Given the description of an element on the screen output the (x, y) to click on. 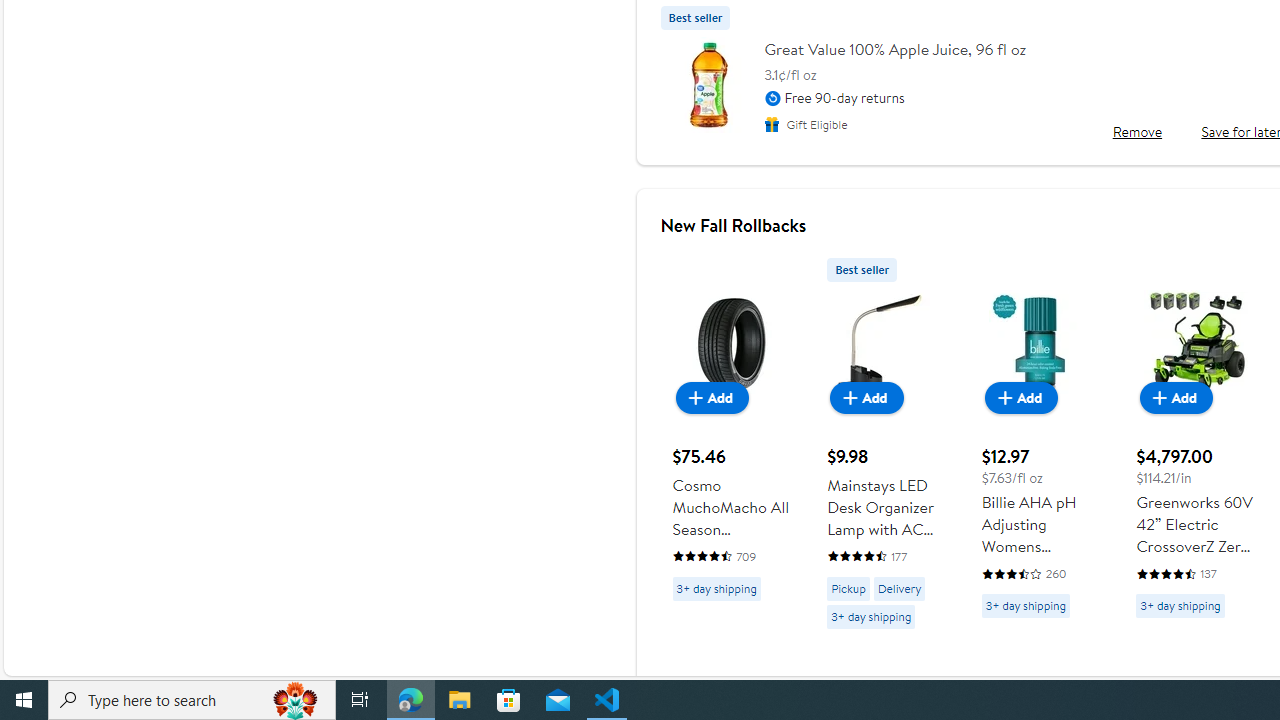
Cosmo MuchoMacho All Season P215/55R17 98W XL Passenger Tire (732, 429)
Remove Great Value 100% Apple Juice, 96 fl oz (1136, 131)
